Given the description of an element on the screen output the (x, y) to click on. 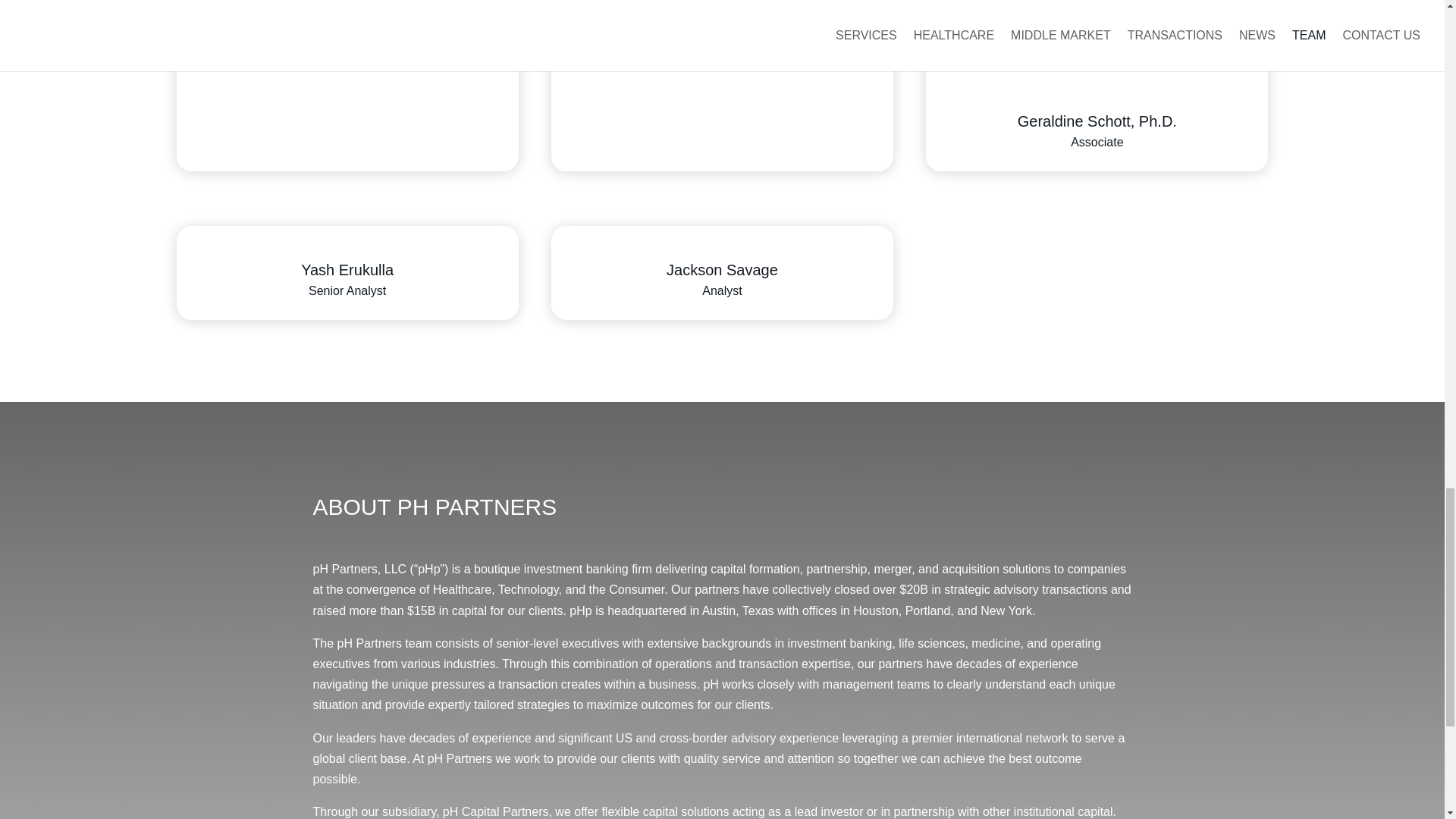
ABOUT (351, 506)
